Given the description of an element on the screen output the (x, y) to click on. 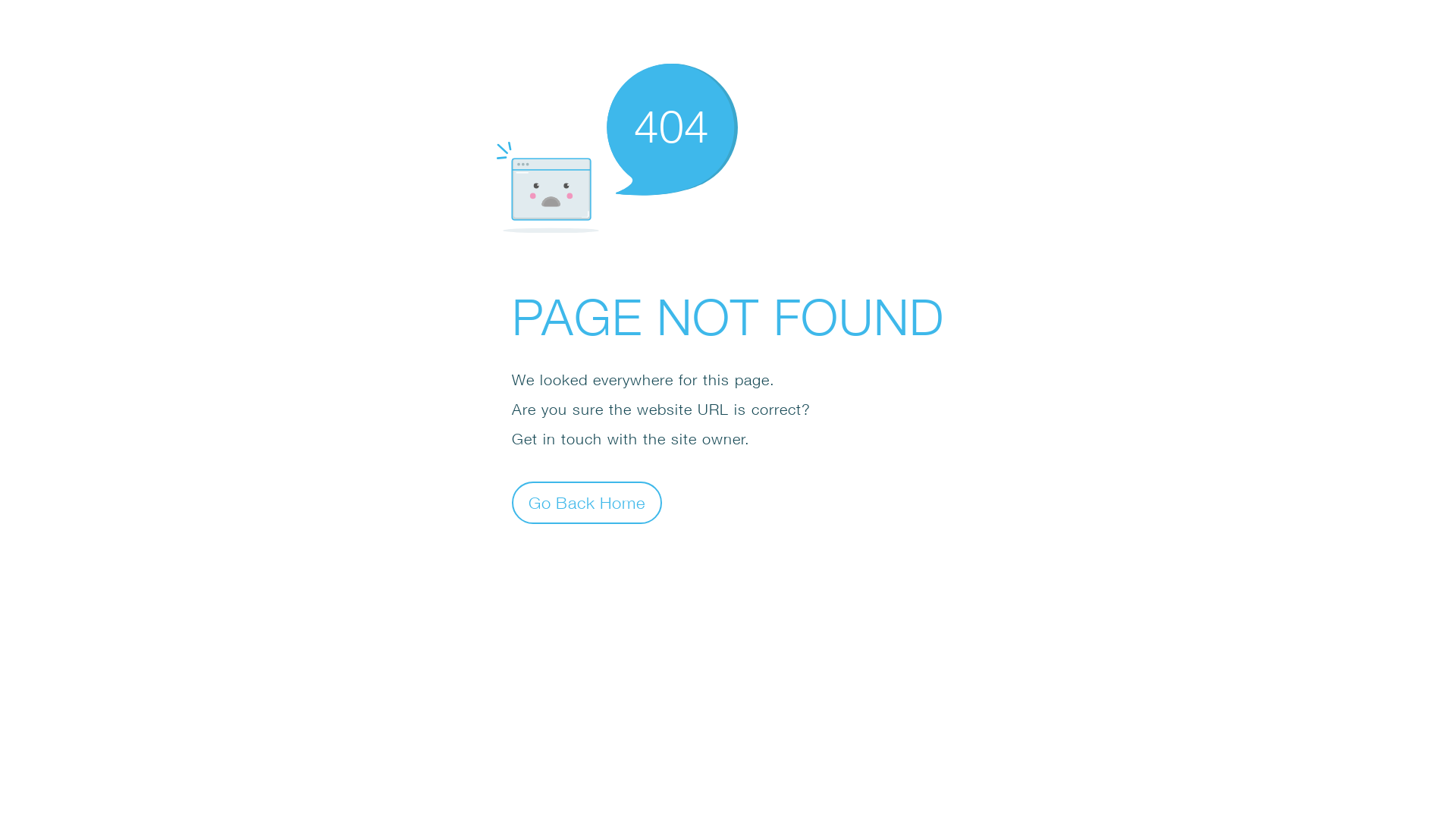
Go Back Home Element type: text (586, 502)
